Given the description of an element on the screen output the (x, y) to click on. 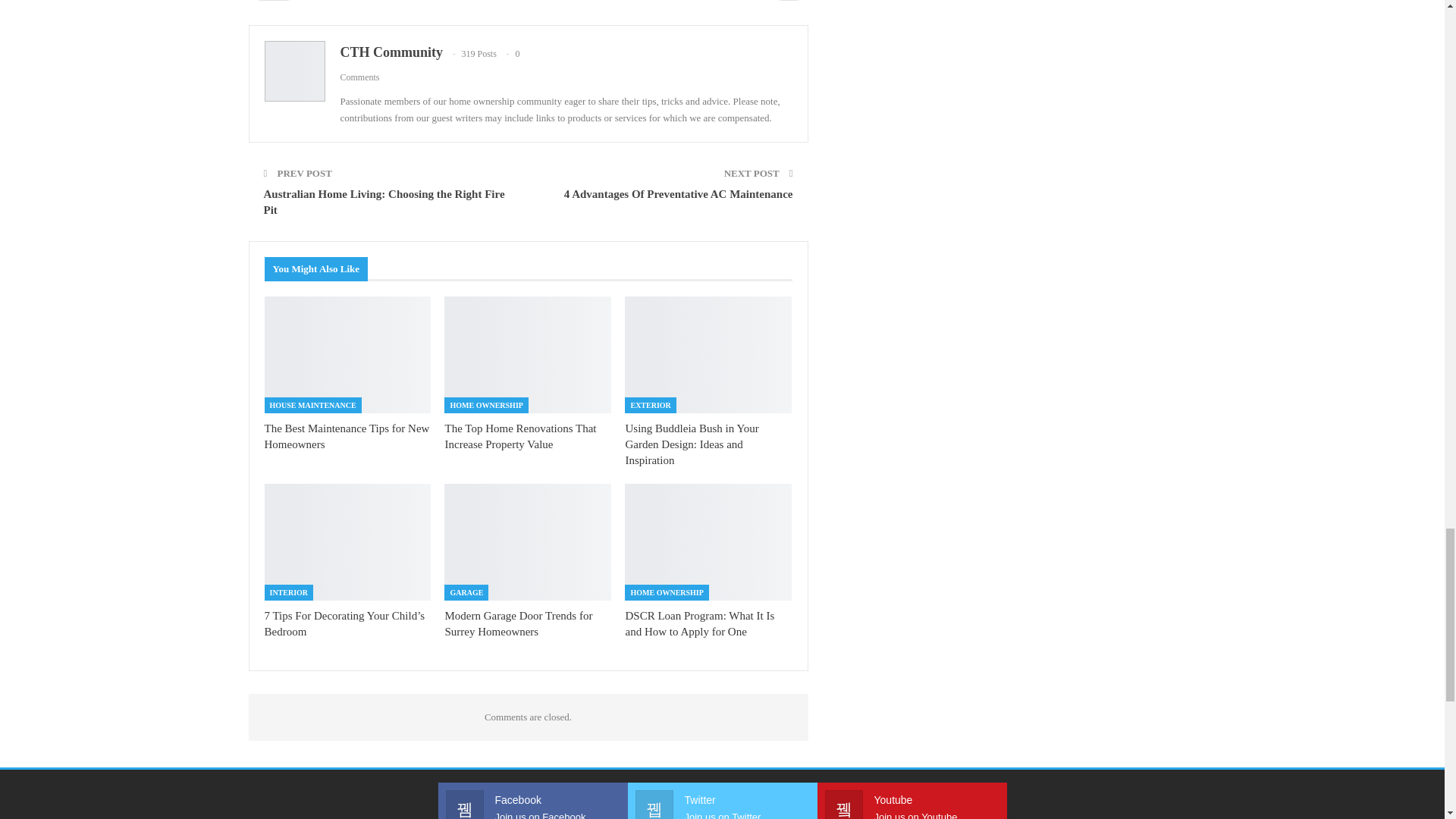
CTH Community (390, 52)
HOUSE MAINTENANCE (312, 405)
The Top Home Renovations That Increase Property Value (519, 436)
Modern Garage Door Trends for Surrey Homeowners (527, 542)
Modern Garage Door Trends for Surrey Homeowners (518, 623)
The Top Home Renovations That Increase Property Value (527, 354)
The Best Maintenance Tips for New Homeowners (346, 436)
The Best Maintenance Tips for New Homeowners (346, 354)
4 Advantages Of Preventative AC Maintenance (678, 193)
Australian Home Living: Choosing the Right Fire Pit (384, 202)
The Best Maintenance Tips for New Homeowners (346, 436)
DSCR Loan Program: What It Is and How to Apply for One (708, 542)
